Given the description of an element on the screen output the (x, y) to click on. 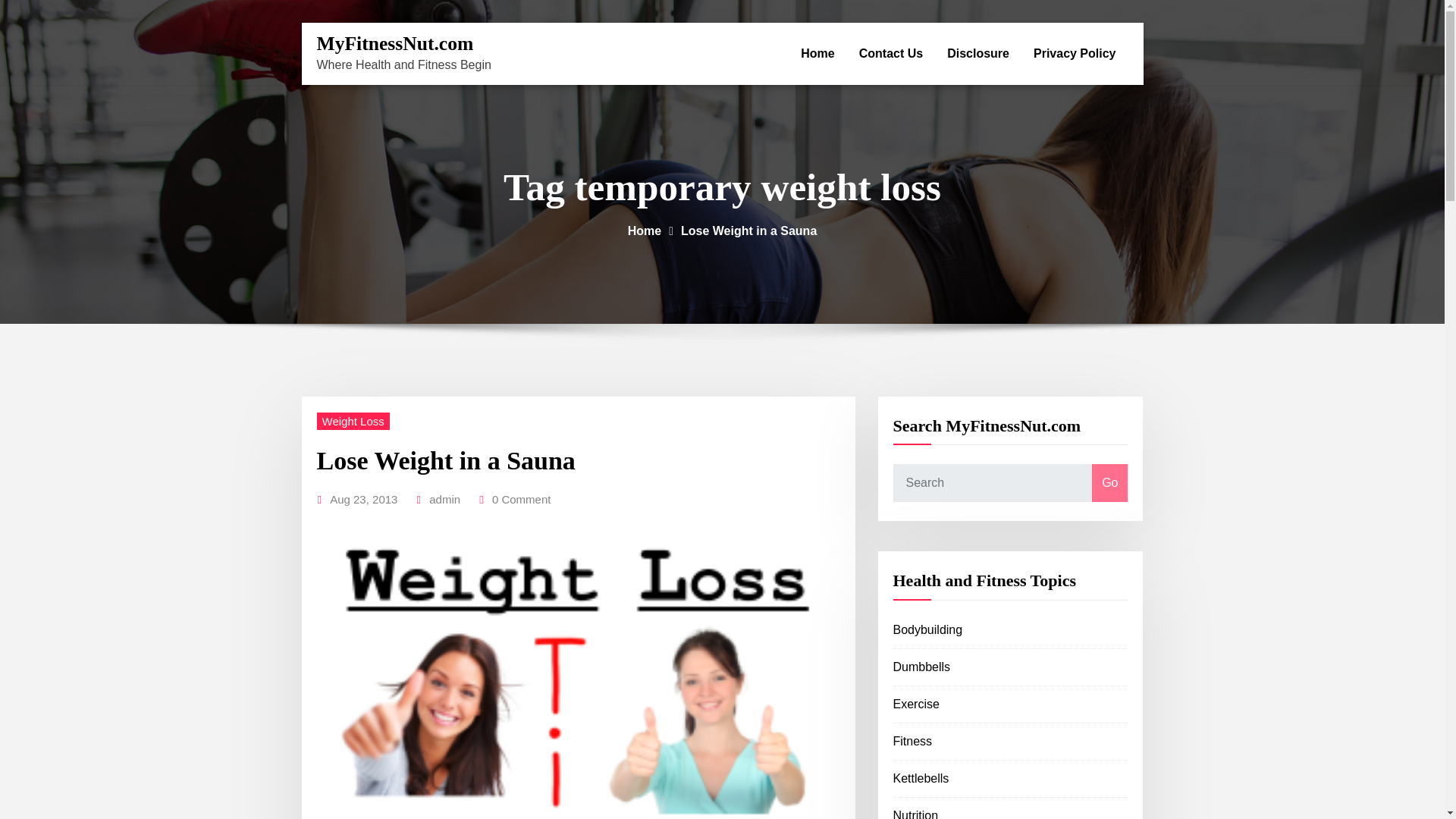
Weight Loss (353, 420)
Nutrition (916, 814)
MyFitnessNut.com (395, 43)
Exercise (916, 703)
Aug 23, 2013 (363, 499)
Bodybuilding (927, 629)
Go (1109, 483)
Contact Us (890, 53)
Kettlebells (921, 778)
Dumbbells (921, 666)
Home (644, 230)
Home (817, 53)
0 Comment (521, 499)
Disclosure (978, 53)
Privacy Policy (1075, 53)
